Given the description of an element on the screen output the (x, y) to click on. 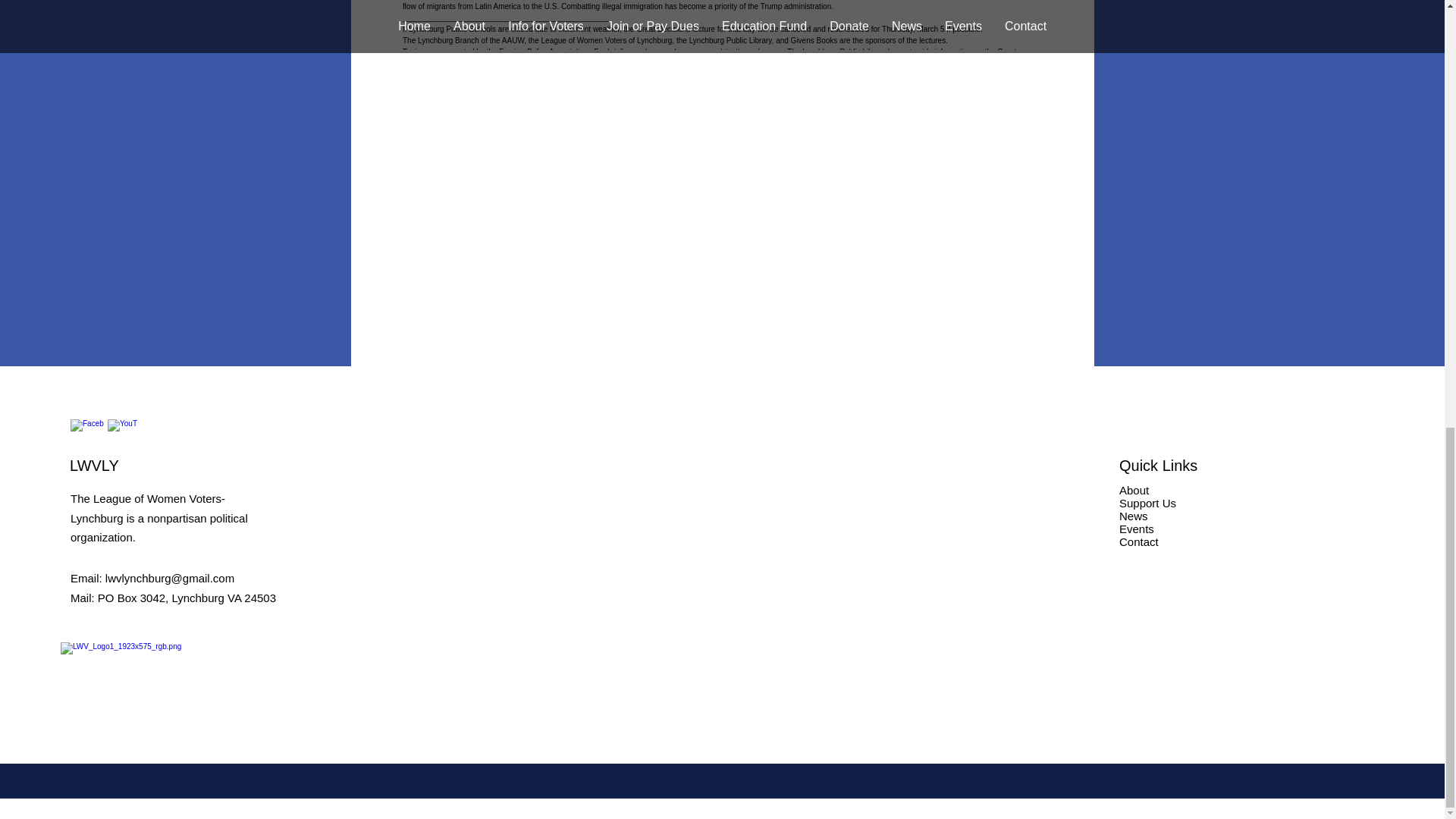
Support Us (1147, 502)
About (1133, 490)
Contact (1138, 541)
Events (1136, 528)
News (1133, 515)
